Given the description of an element on the screen output the (x, y) to click on. 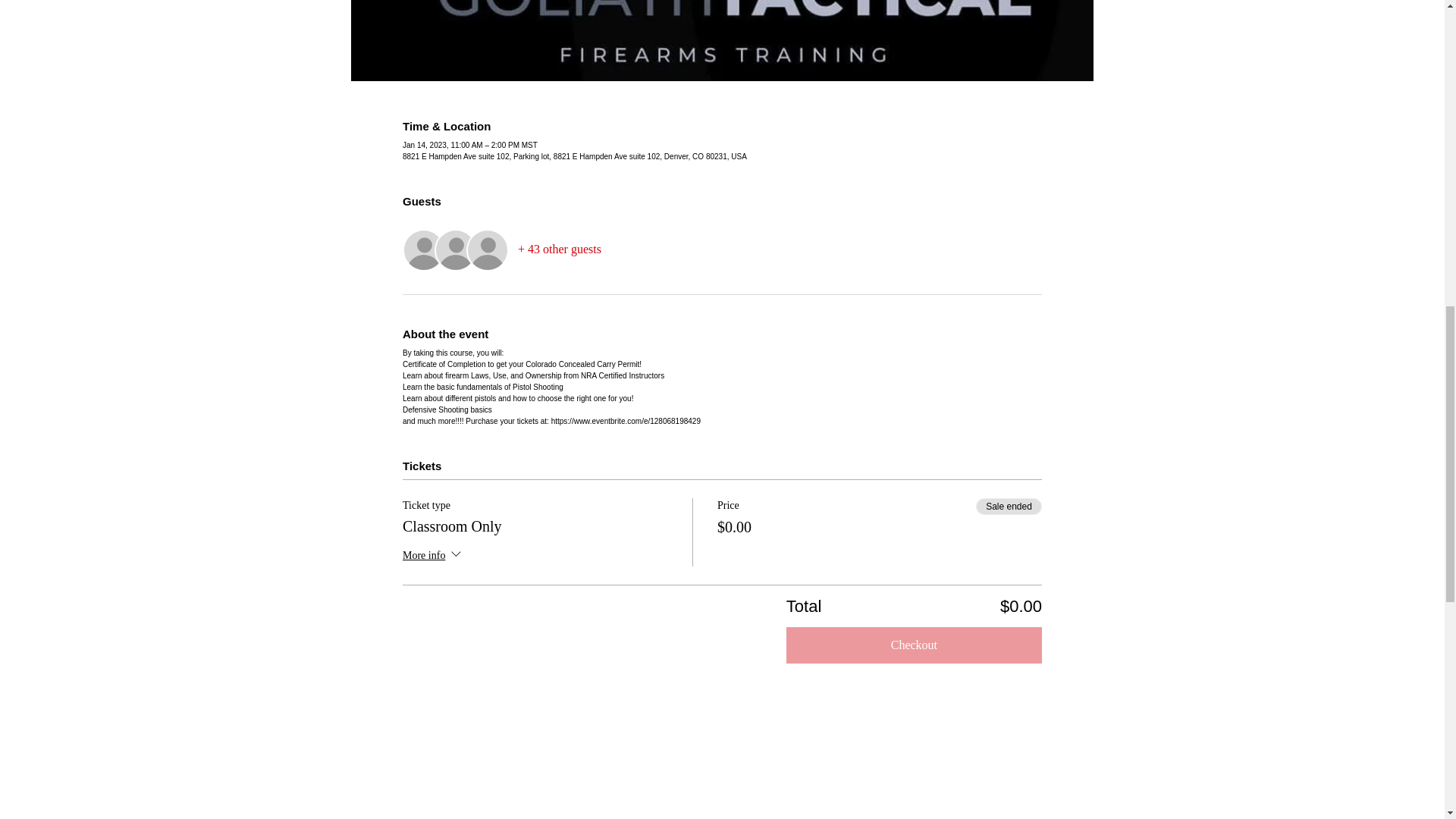
Checkout (914, 645)
More info (433, 556)
